Given the description of an element on the screen output the (x, y) to click on. 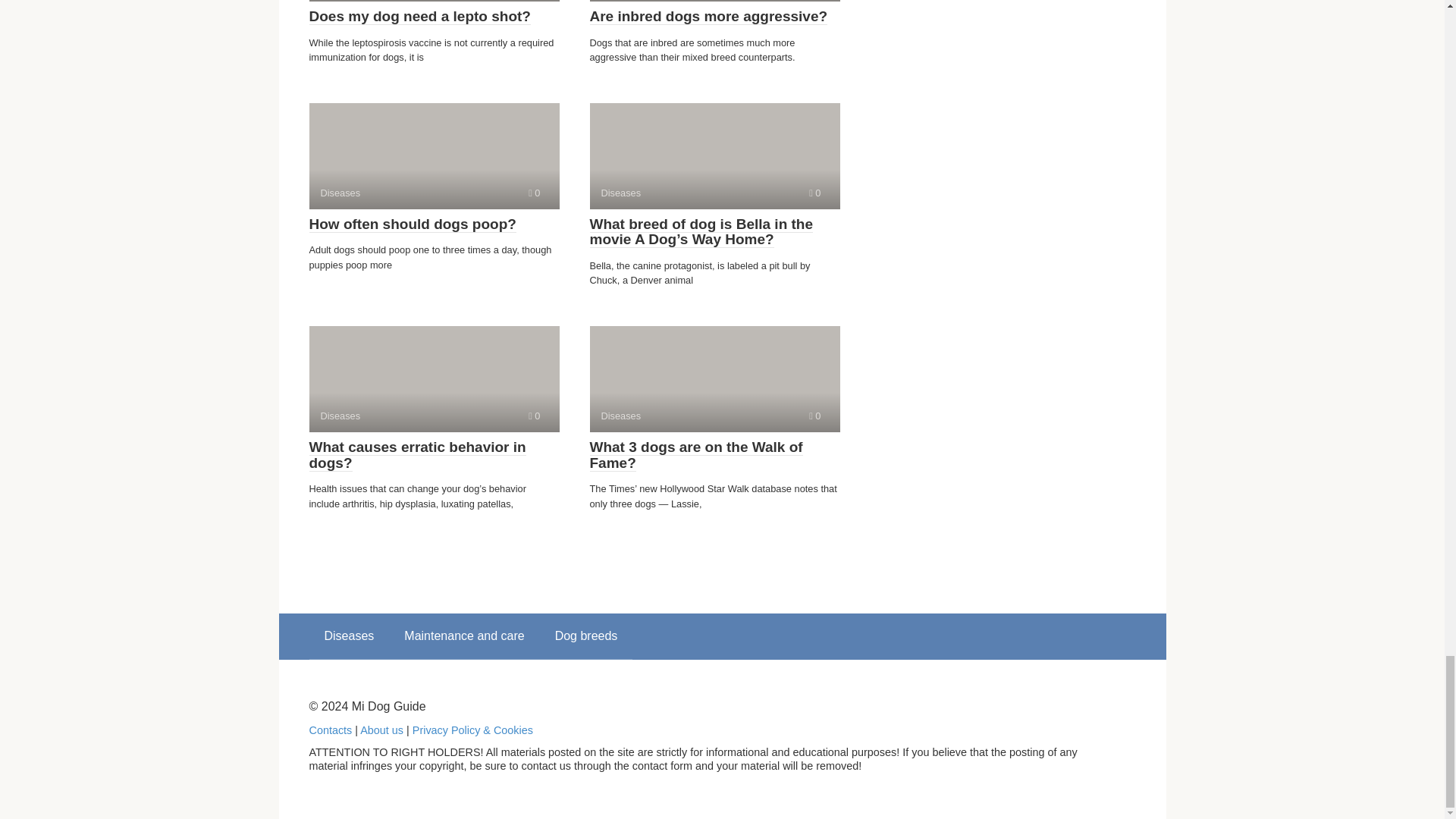
Comments (534, 415)
How often should dogs poop? (412, 224)
Comments (433, 378)
Are inbred dogs more aggressive? (815, 193)
Comments (708, 16)
